Given the description of an element on the screen output the (x, y) to click on. 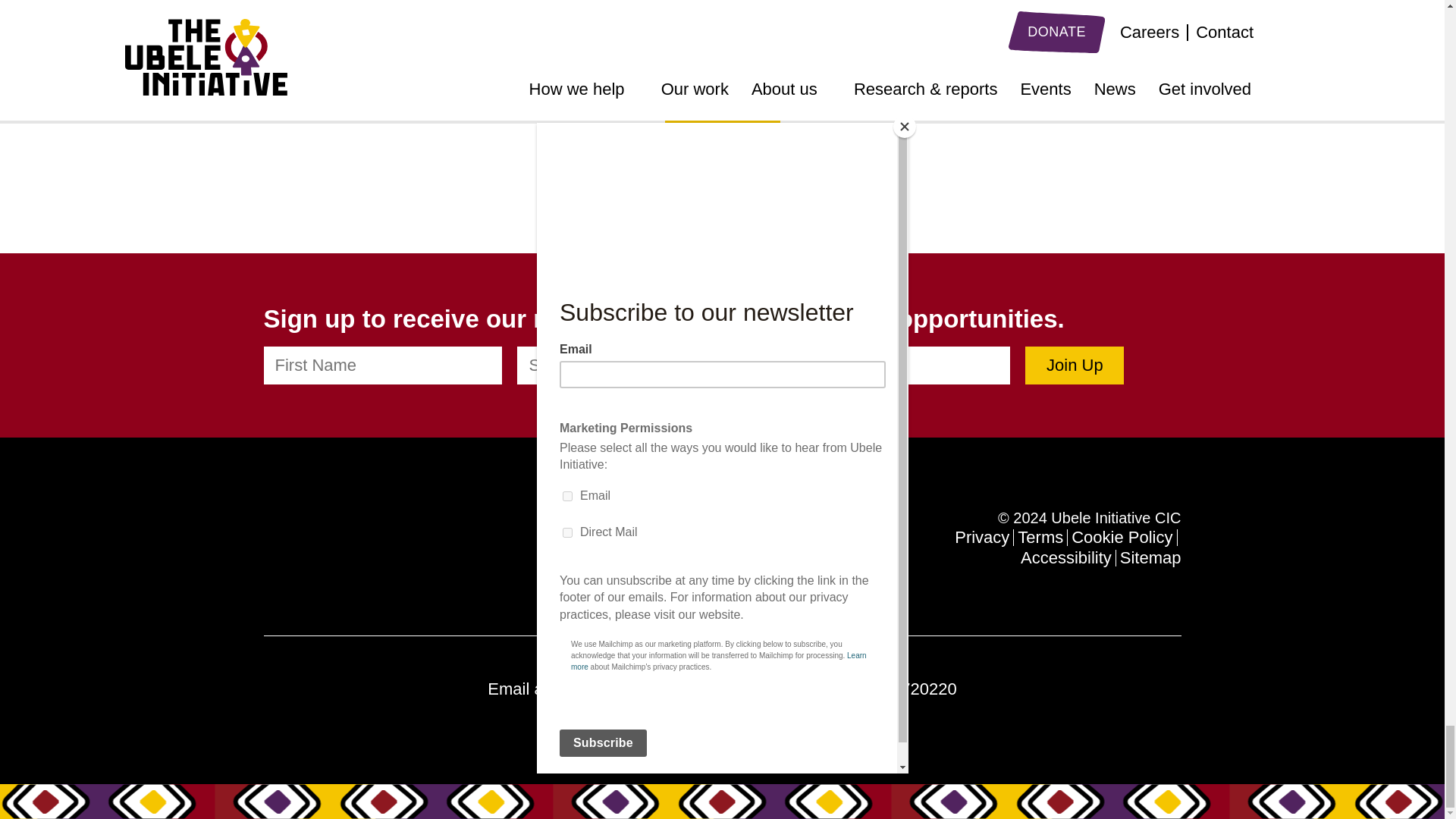
See all (720, 133)
The Ubele Initiative Twitter page (304, 541)
Join Up (1074, 365)
The Ubele Initiative Linkedin page (272, 542)
